Given the description of an element on the screen output the (x, y) to click on. 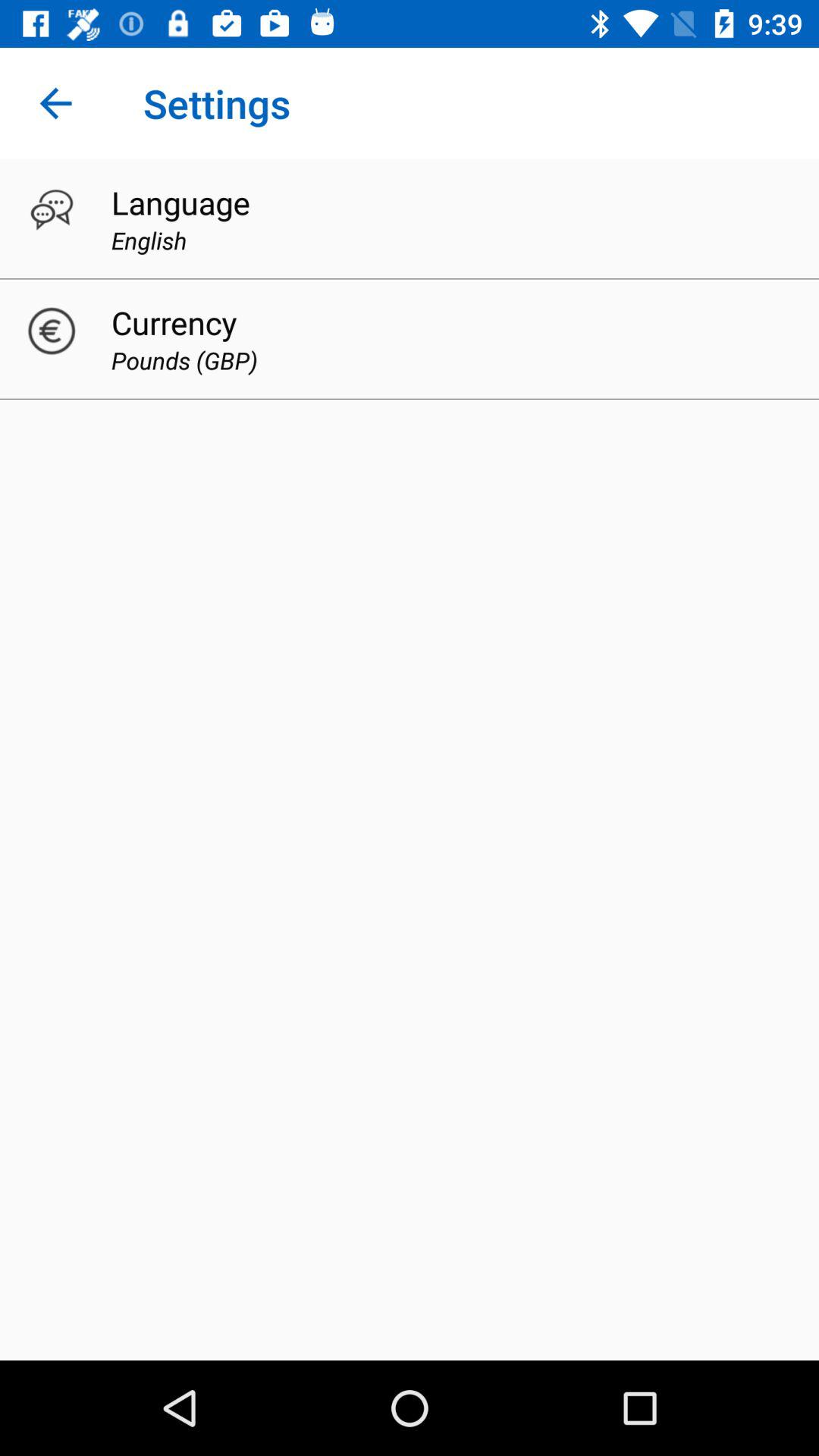
open language (180, 202)
